Given the description of an element on the screen output the (x, y) to click on. 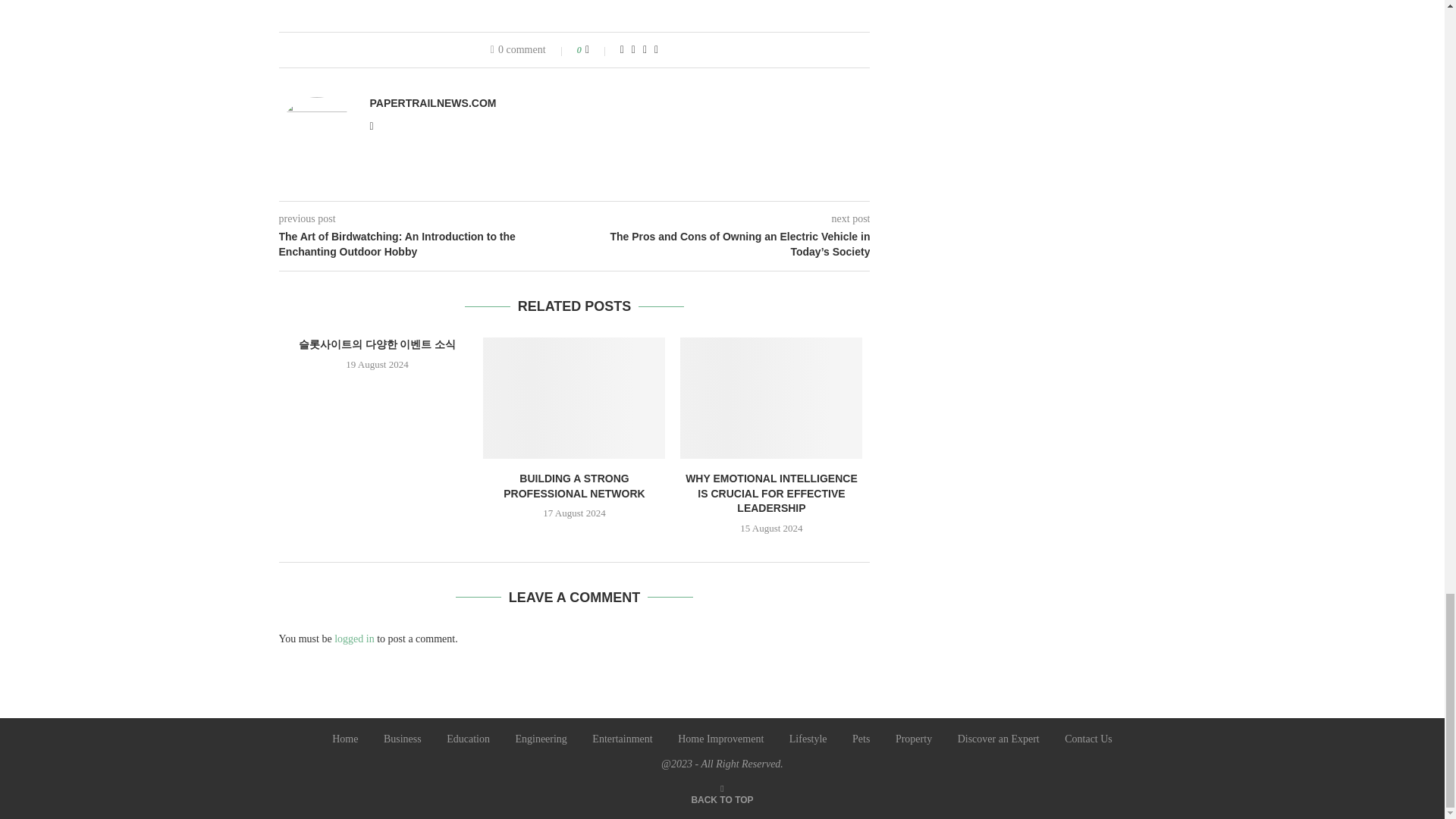
Like (597, 50)
Author papertrailnews.com (432, 102)
PAPERTRAILNEWS.COM (432, 102)
Building a Strong Professional Network (574, 397)
